Given the description of an element on the screen output the (x, y) to click on. 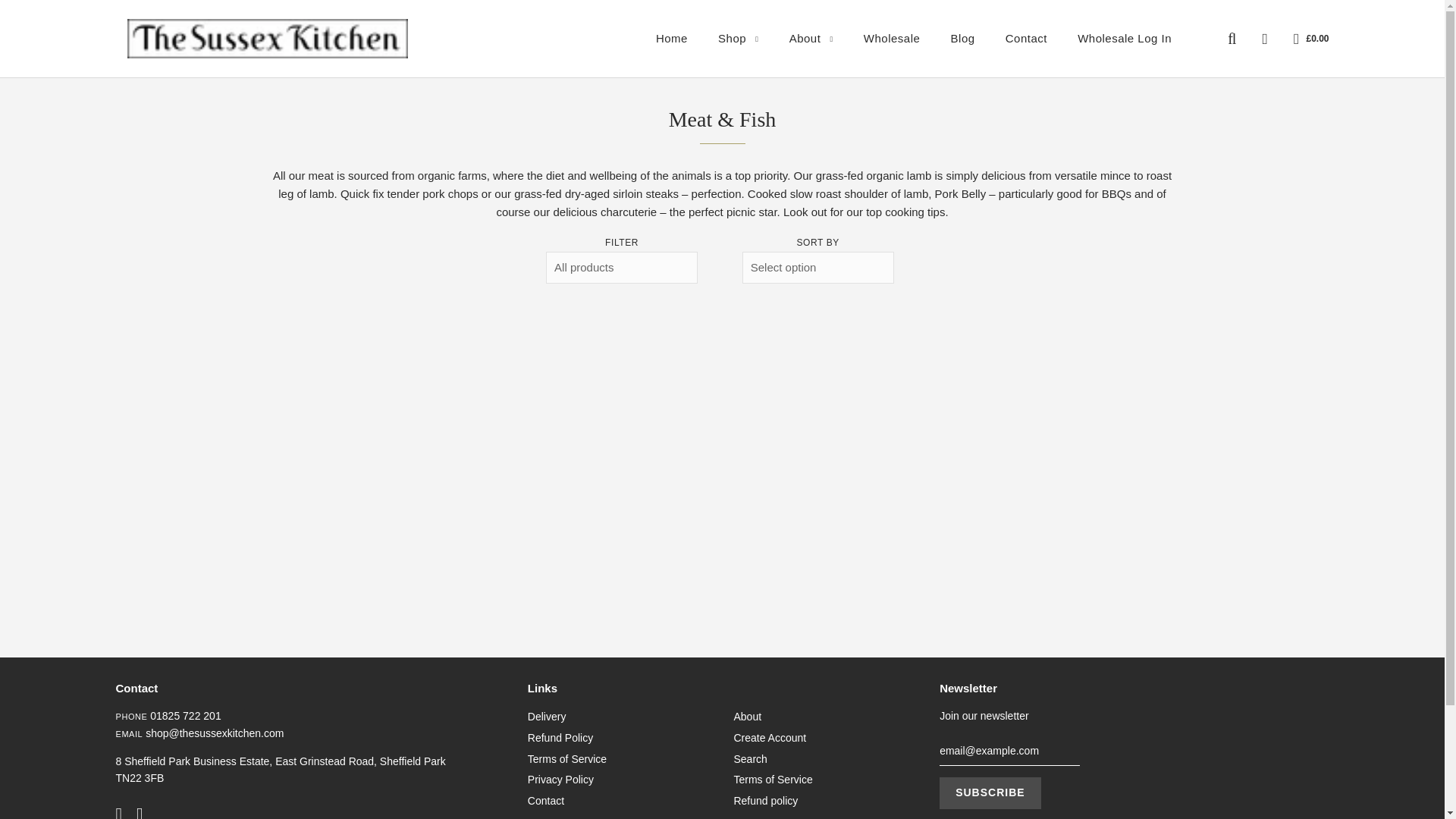
Contact (1026, 37)
Wholesale Log In (1118, 37)
About (811, 38)
Wholesale (892, 37)
Subscribe (990, 793)
Log in (1264, 38)
Shop (737, 38)
Home (671, 37)
Blog (962, 37)
